Given the description of an element on the screen output the (x, y) to click on. 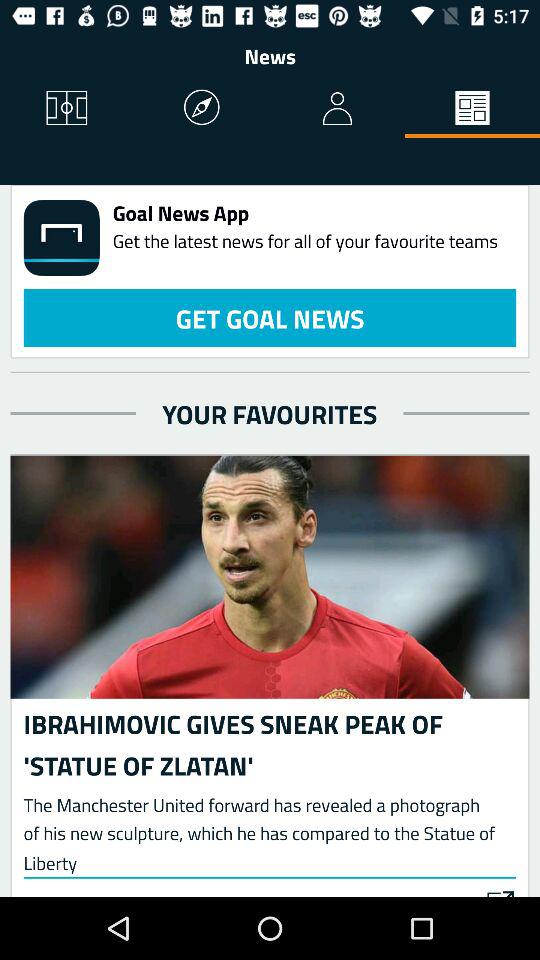
tap icon below the news item (67, 108)
